Given the description of an element on the screen output the (x, y) to click on. 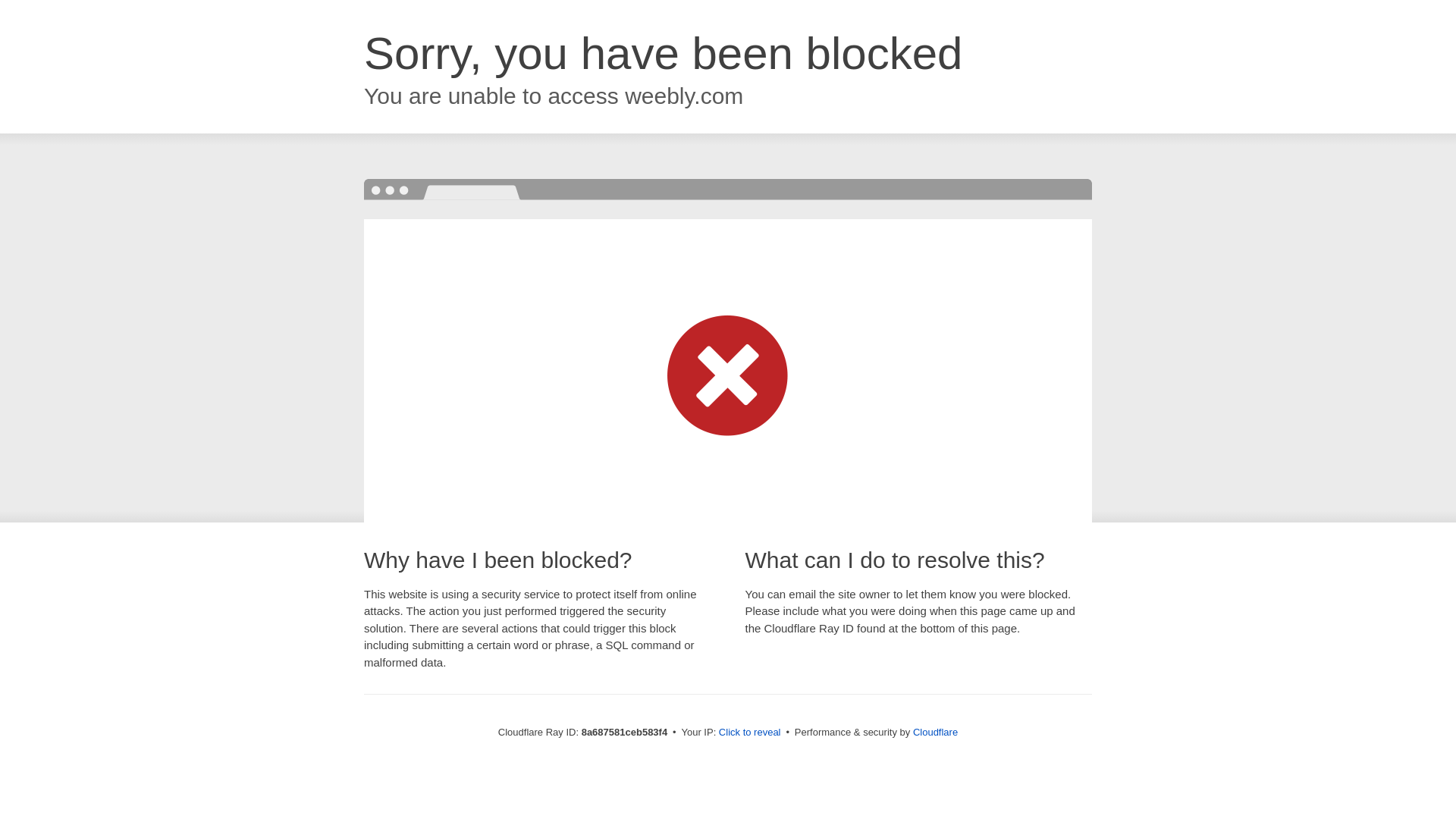
Click to reveal (749, 732)
Cloudflare (935, 731)
